Given the description of an element on the screen output the (x, y) to click on. 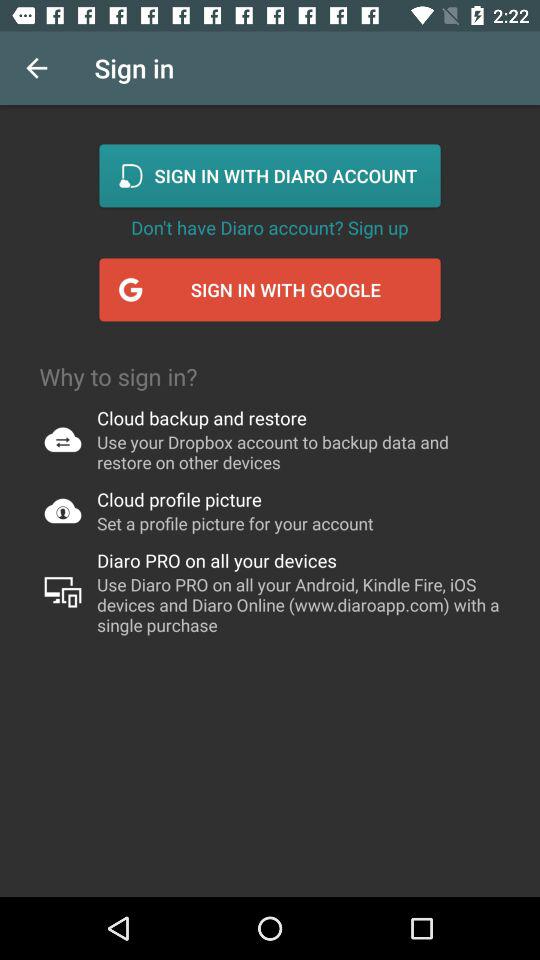
jump until the don t have (269, 227)
